Given the description of an element on the screen output the (x, y) to click on. 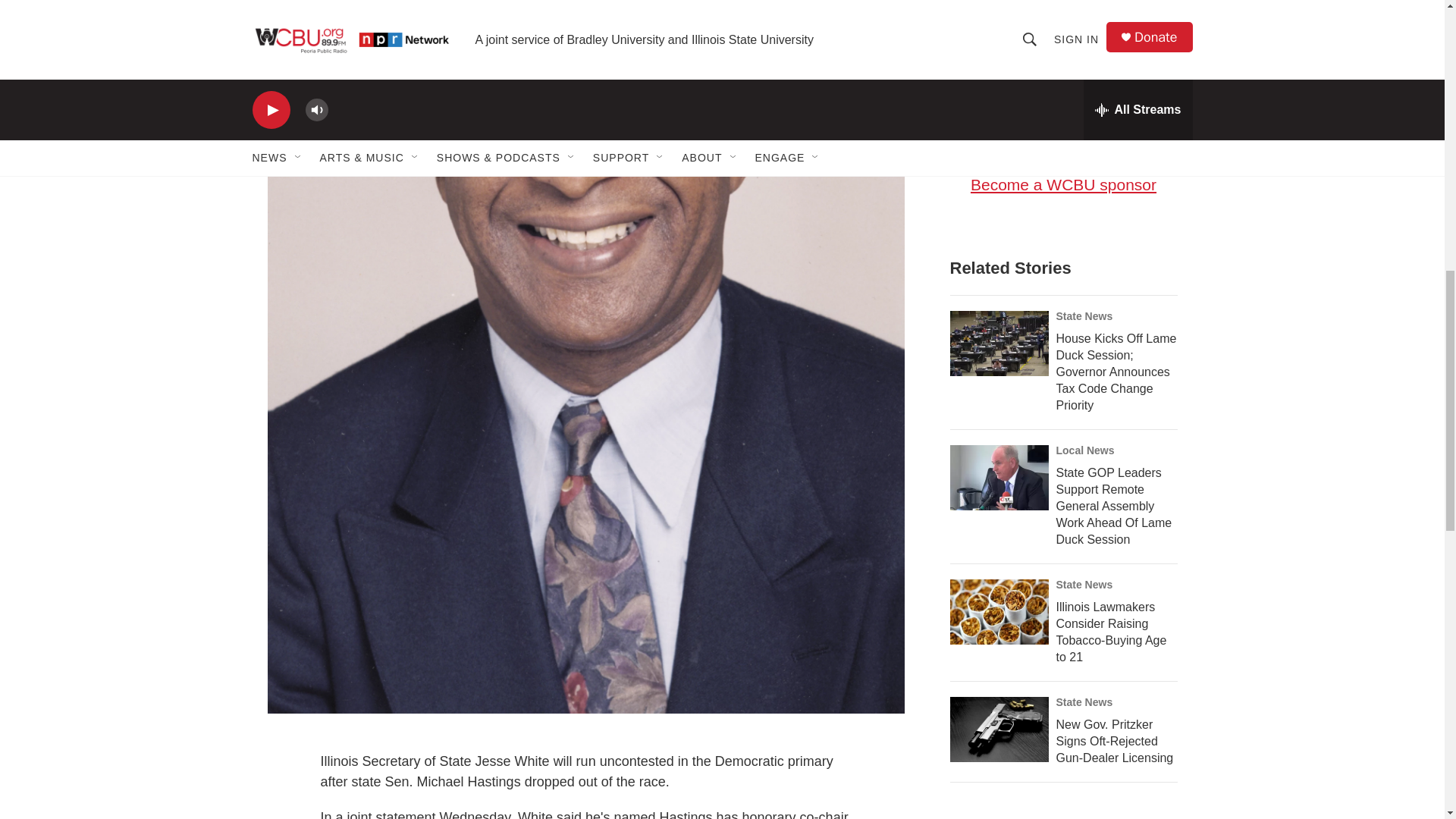
3rd party ad content (1062, 72)
